Given the description of an element on the screen output the (x, y) to click on. 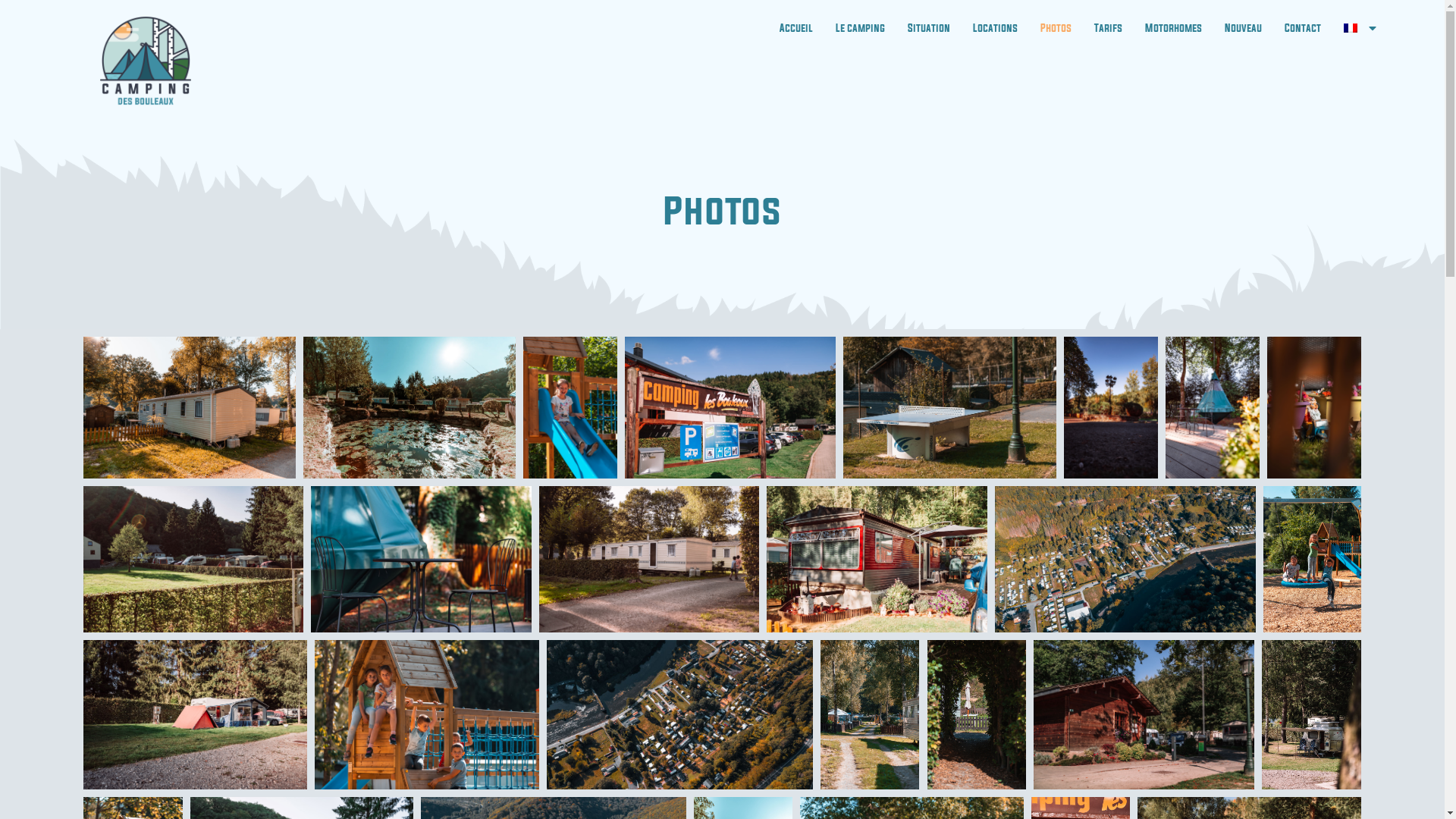
Tarifs Element type: text (1107, 27)
Accueil Element type: text (796, 27)
Situation Element type: text (928, 27)
Le camping Element type: text (860, 27)
Contact Element type: text (1302, 27)
Nouveau Element type: text (1243, 27)
Locations Element type: text (995, 27)
Photos Element type: text (1055, 27)
Motorhomes Element type: text (1173, 27)
